Given the description of an element on the screen output the (x, y) to click on. 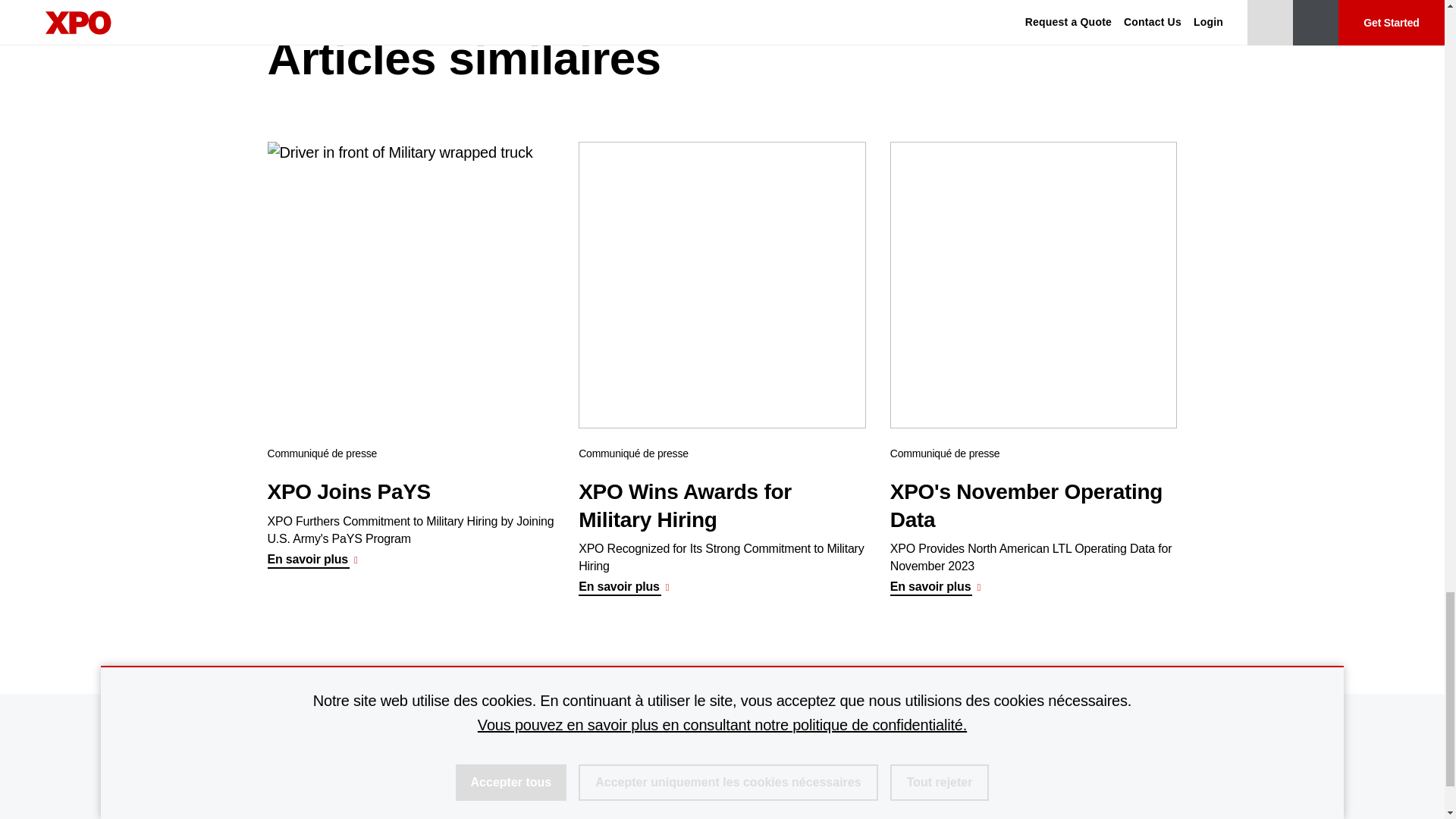
En savoir plus (626, 586)
En savoir plus (315, 559)
En savoir plus (938, 586)
XPO Joins PaYS (410, 285)
